Given the description of an element on the screen output the (x, y) to click on. 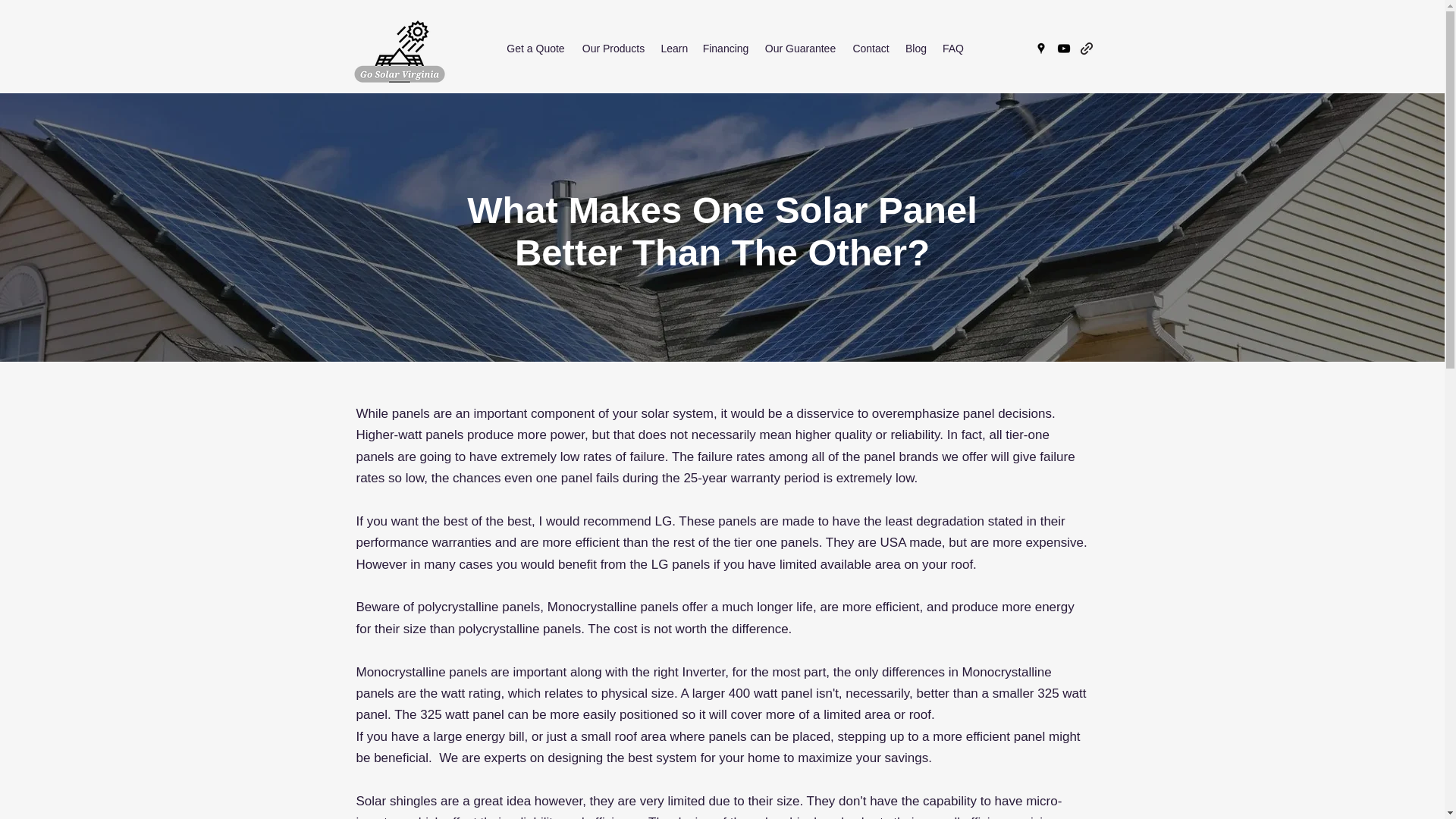
Get a Quote (535, 47)
Blog (916, 47)
Contact (871, 47)
FAQ (952, 47)
inverters which effect their reliability and efficiency (499, 816)
Inverter, (704, 671)
Our Guarantee (800, 47)
Financing (724, 47)
